Given the description of an element on the screen output the (x, y) to click on. 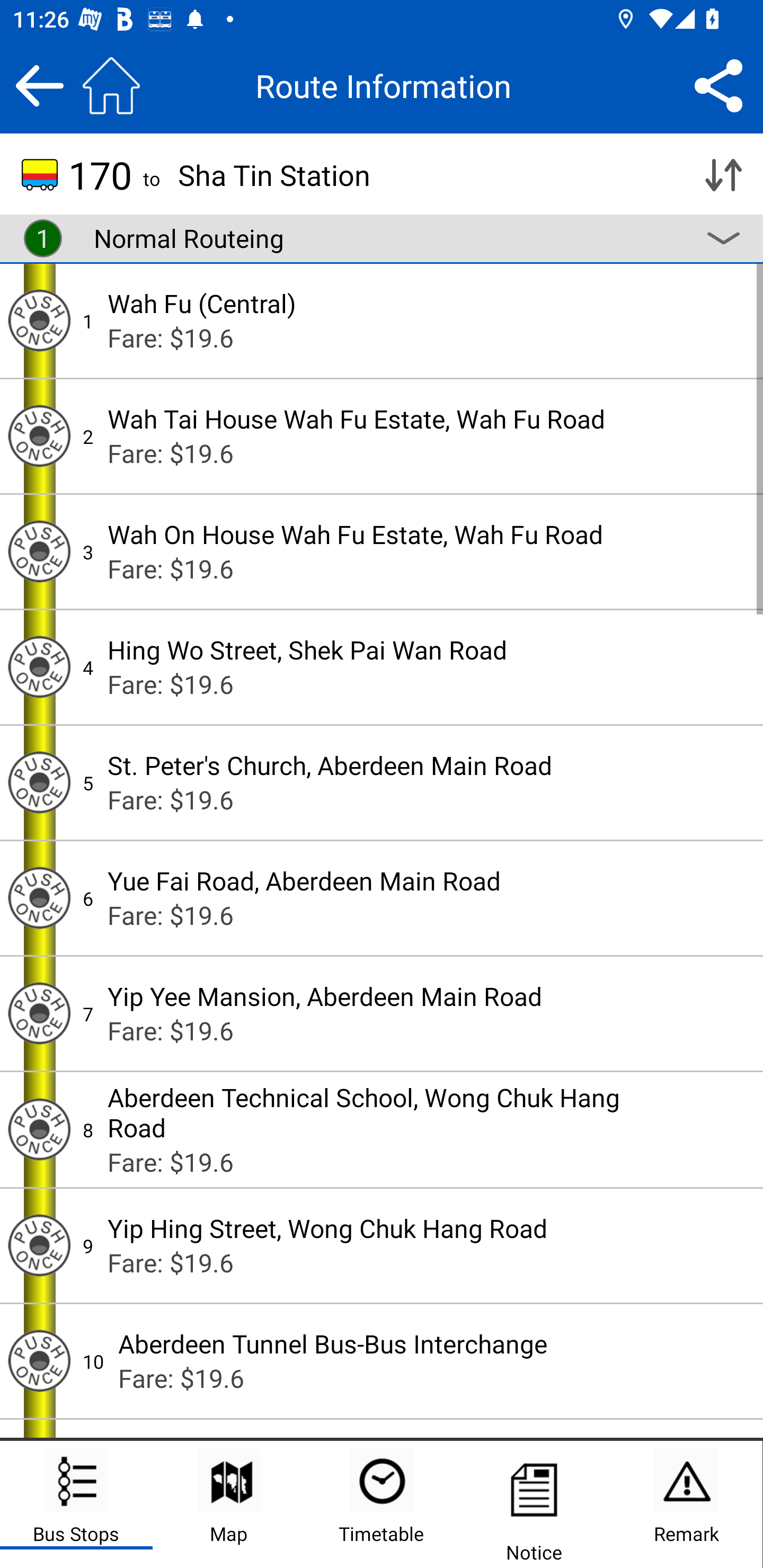
Jump to home page (111, 85)
Share point to point route search criteria) (718, 85)
Back (39, 85)
Reverse direction (723, 174)
Other routes (723, 238)
Alight Reminder (39, 320)
Alight Reminder (39, 435)
Alight Reminder (39, 551)
Alight Reminder (39, 667)
Alight Reminder (39, 782)
Alight Reminder (39, 897)
Alight Reminder (39, 1013)
Alight Reminder (39, 1129)
Alight Reminder (39, 1245)
Alight Reminder (39, 1360)
Bus Stops (76, 1504)
Map (228, 1504)
Timetable (381, 1504)
Notice (533, 1504)
Remark (686, 1504)
